Given the description of an element on the screen output the (x, y) to click on. 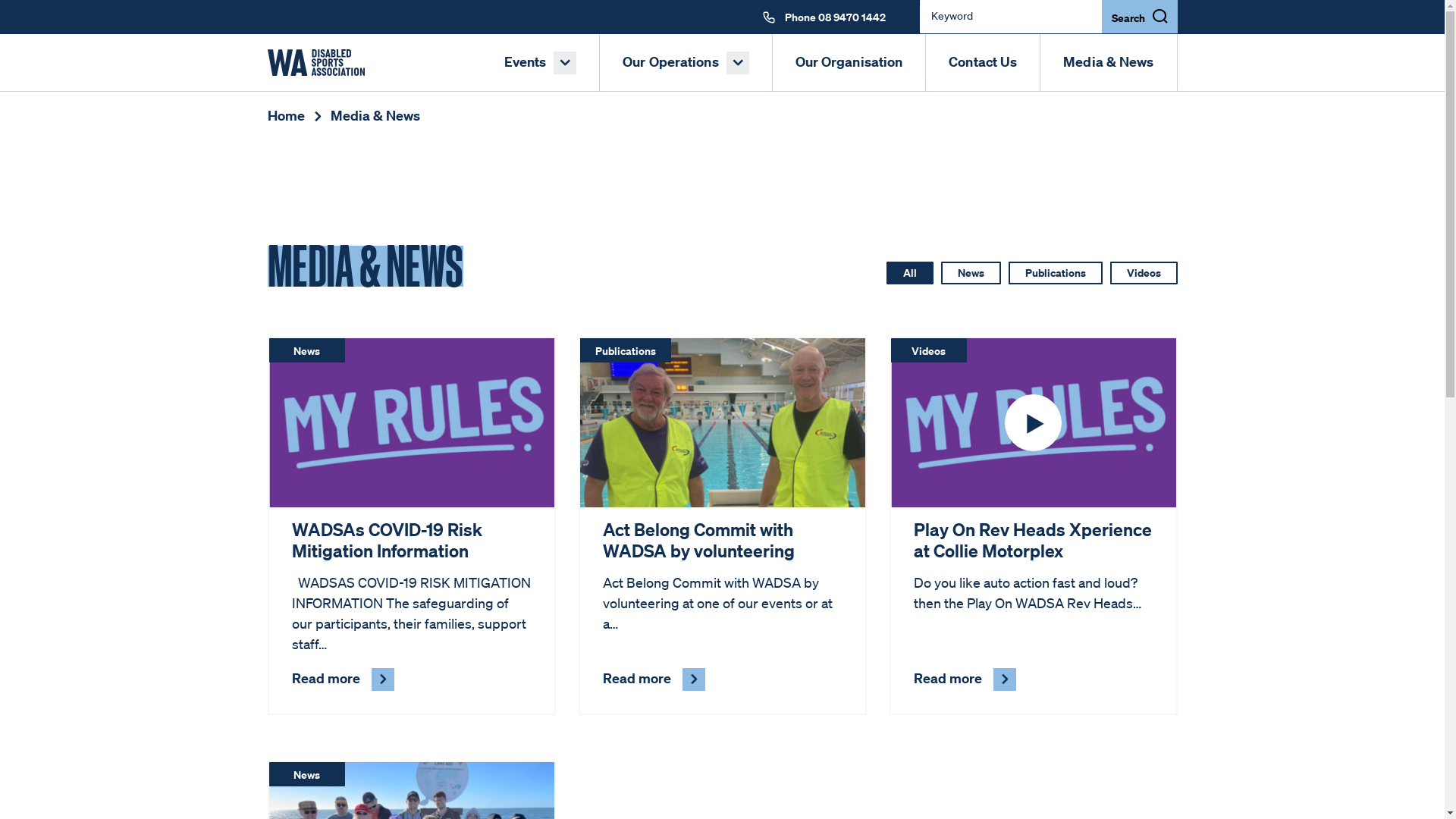
Contact Us Element type: text (982, 62)
Events Element type: text (540, 62)
Videos Element type: text (1143, 272)
Media & News Element type: text (375, 114)
Phone 08 9470 1442 Element type: text (820, 17)
Publications Element type: text (1055, 272)
Search Element type: text (1138, 16)
Media & News Element type: text (1108, 62)
All Element type: text (908, 272)
News Element type: text (970, 272)
Our Organisation Element type: text (848, 62)
Our Operations Element type: text (685, 62)
Home Element type: text (294, 114)
